Given the description of an element on the screen output the (x, y) to click on. 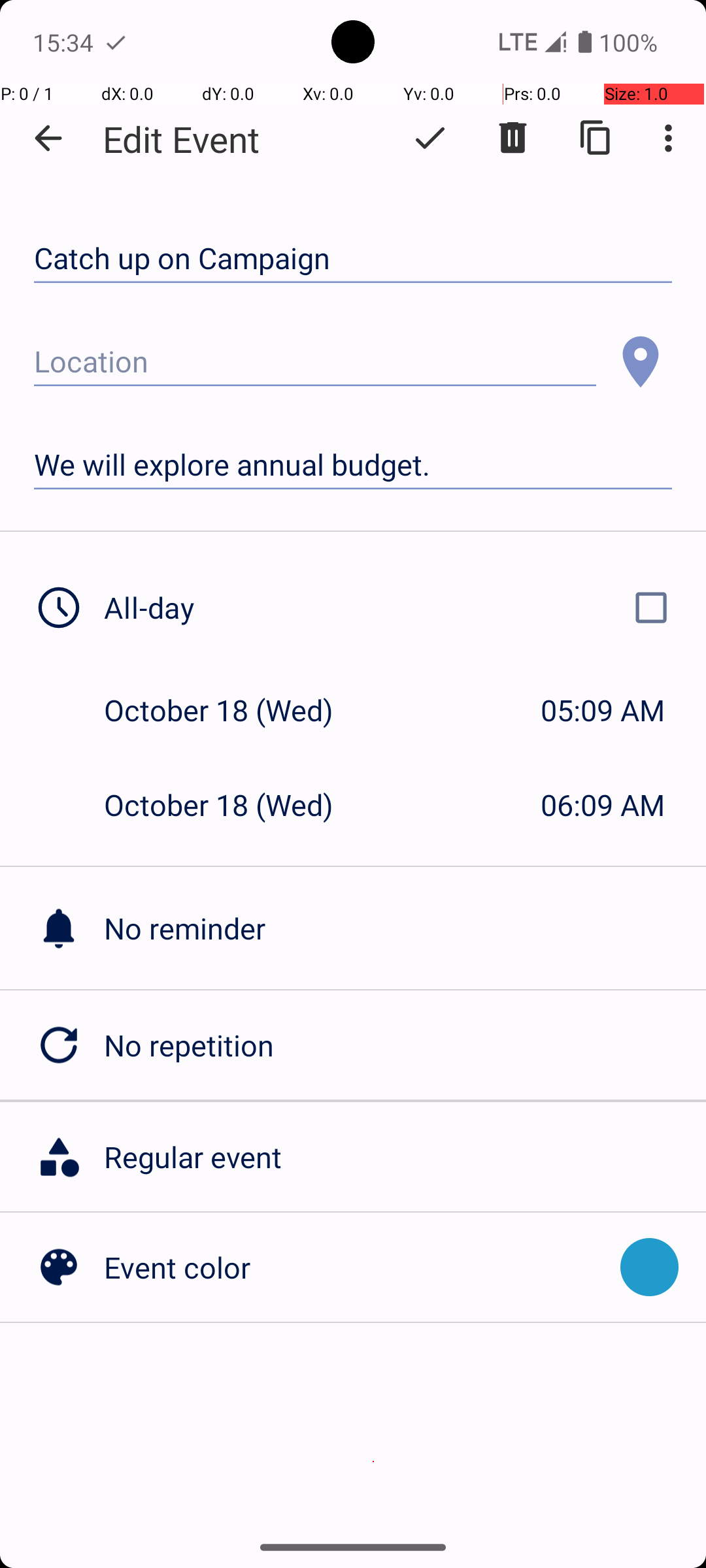
We will explore annual budget. Element type: android.widget.EditText (352, 465)
October 18 (Wed) Element type: android.widget.TextView (232, 709)
05:09 AM Element type: android.widget.TextView (602, 709)
06:09 AM Element type: android.widget.TextView (602, 804)
